Given the description of an element on the screen output the (x, y) to click on. 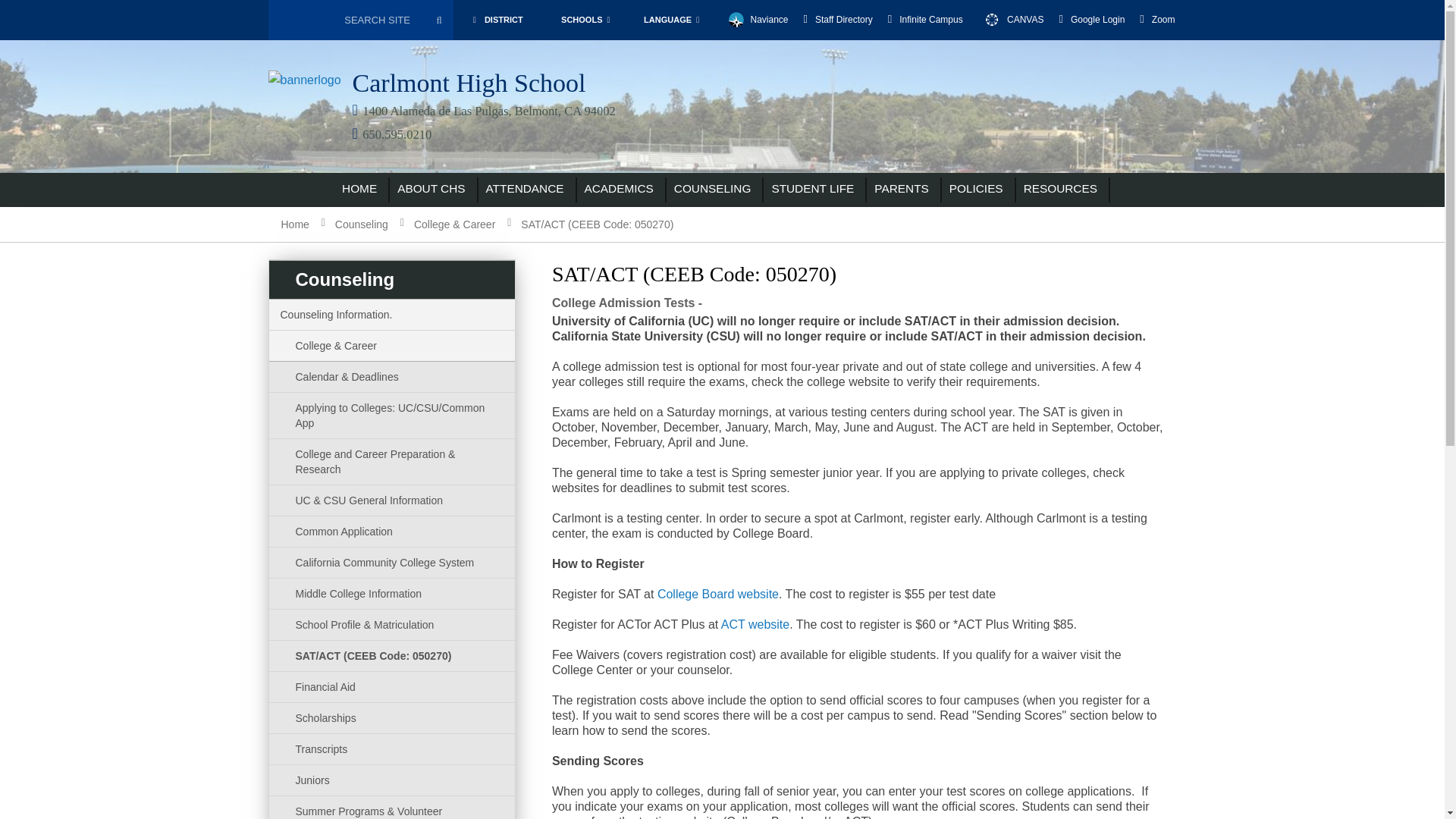
LANGUAGE   (670, 20)
SCHOOLS   (585, 20)
Search Site (346, 20)
  DISTRICT (496, 20)
